Given the description of an element on the screen output the (x, y) to click on. 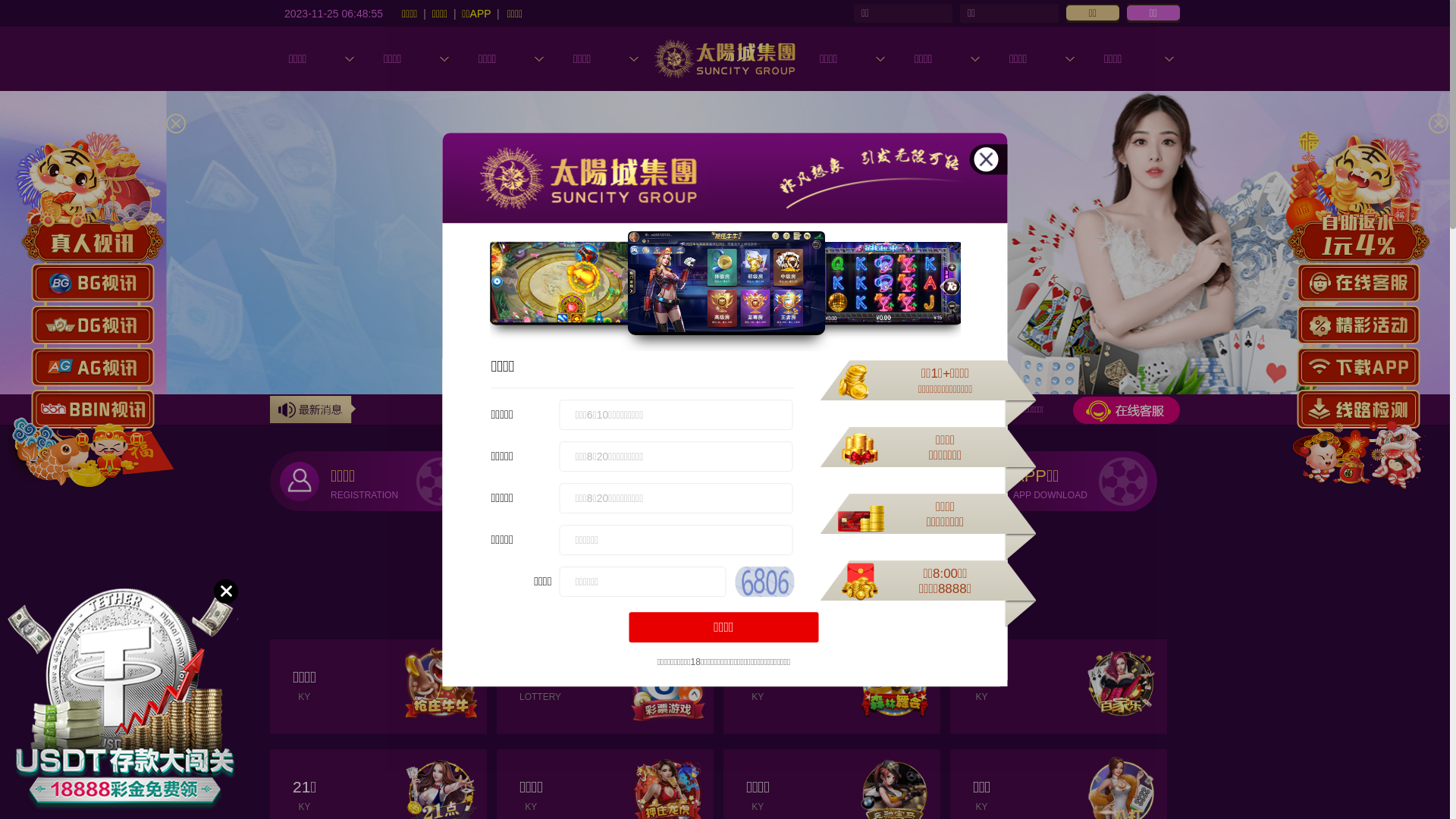
2023-11-25 06:48:53 Element type: text (333, 12)
